Given the description of an element on the screen output the (x, y) to click on. 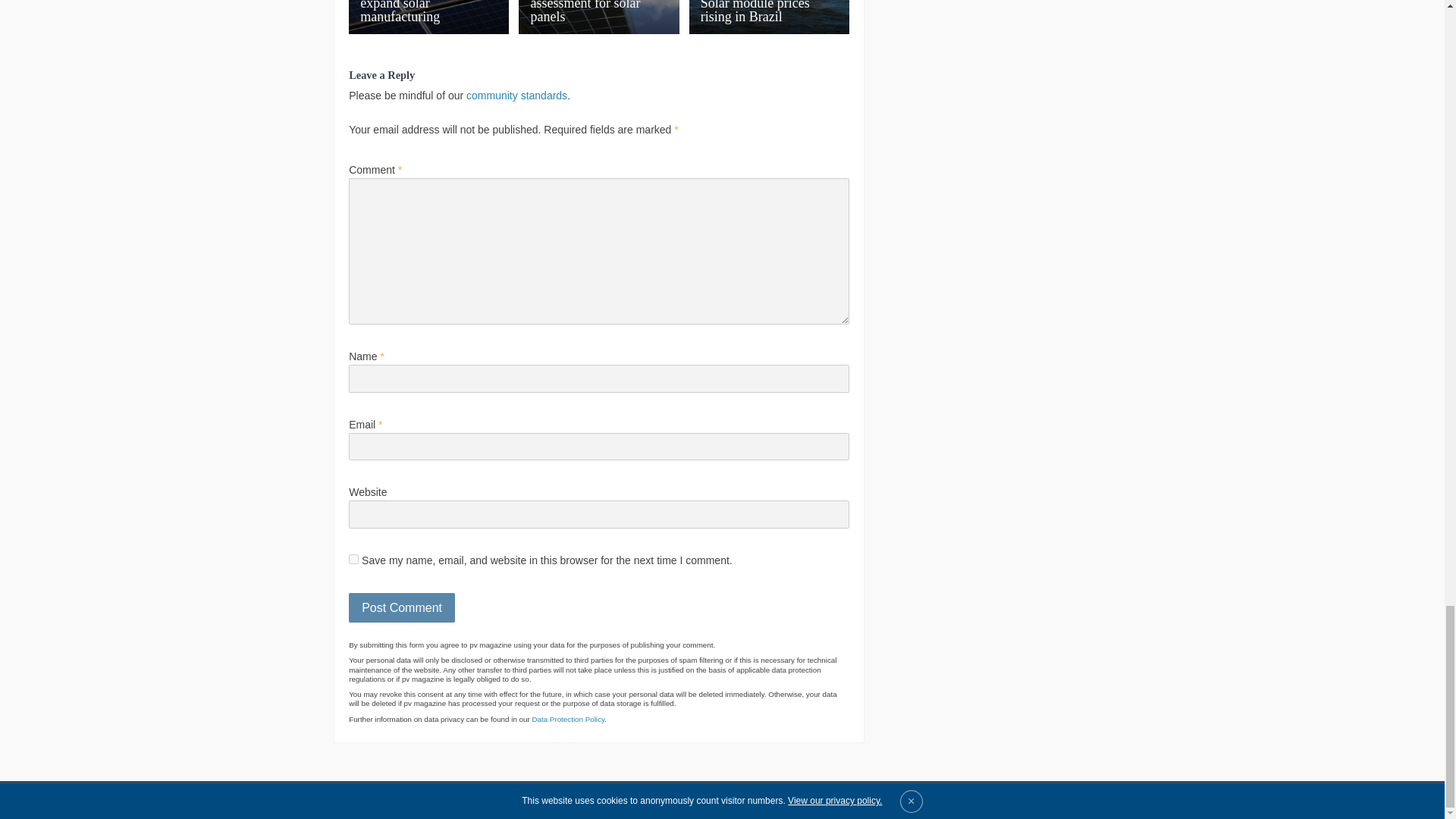
Post Comment (401, 607)
yes (353, 559)
